Given the description of an element on the screen output the (x, y) to click on. 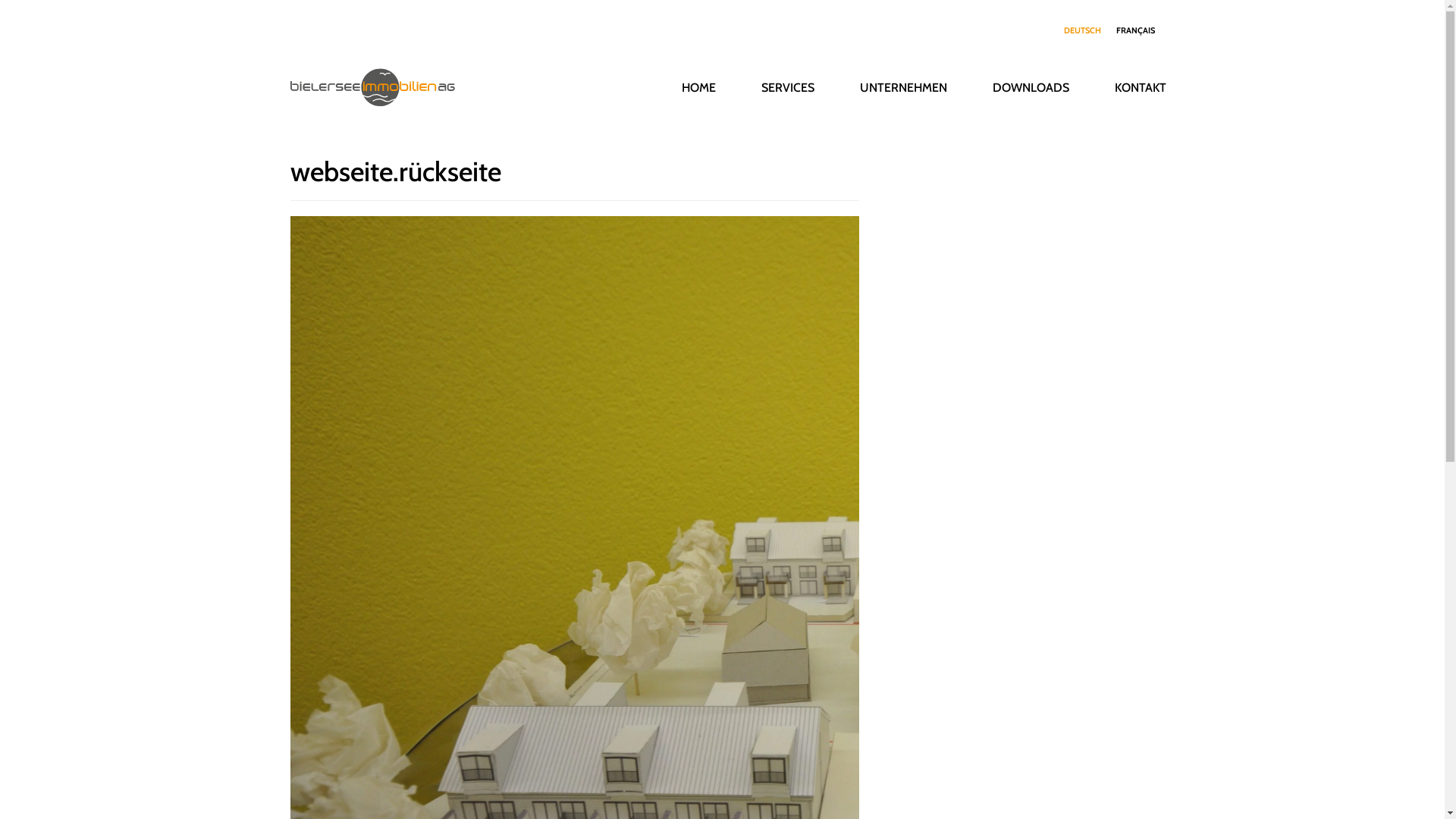
HOME Element type: text (697, 87)
SERVICES Element type: text (787, 87)
KONTAKT Element type: text (1140, 87)
UNTERNEHMEN Element type: text (903, 87)
DOWNLOADS Element type: text (1029, 87)
DEUTSCH Element type: text (1081, 29)
